Given the description of an element on the screen output the (x, y) to click on. 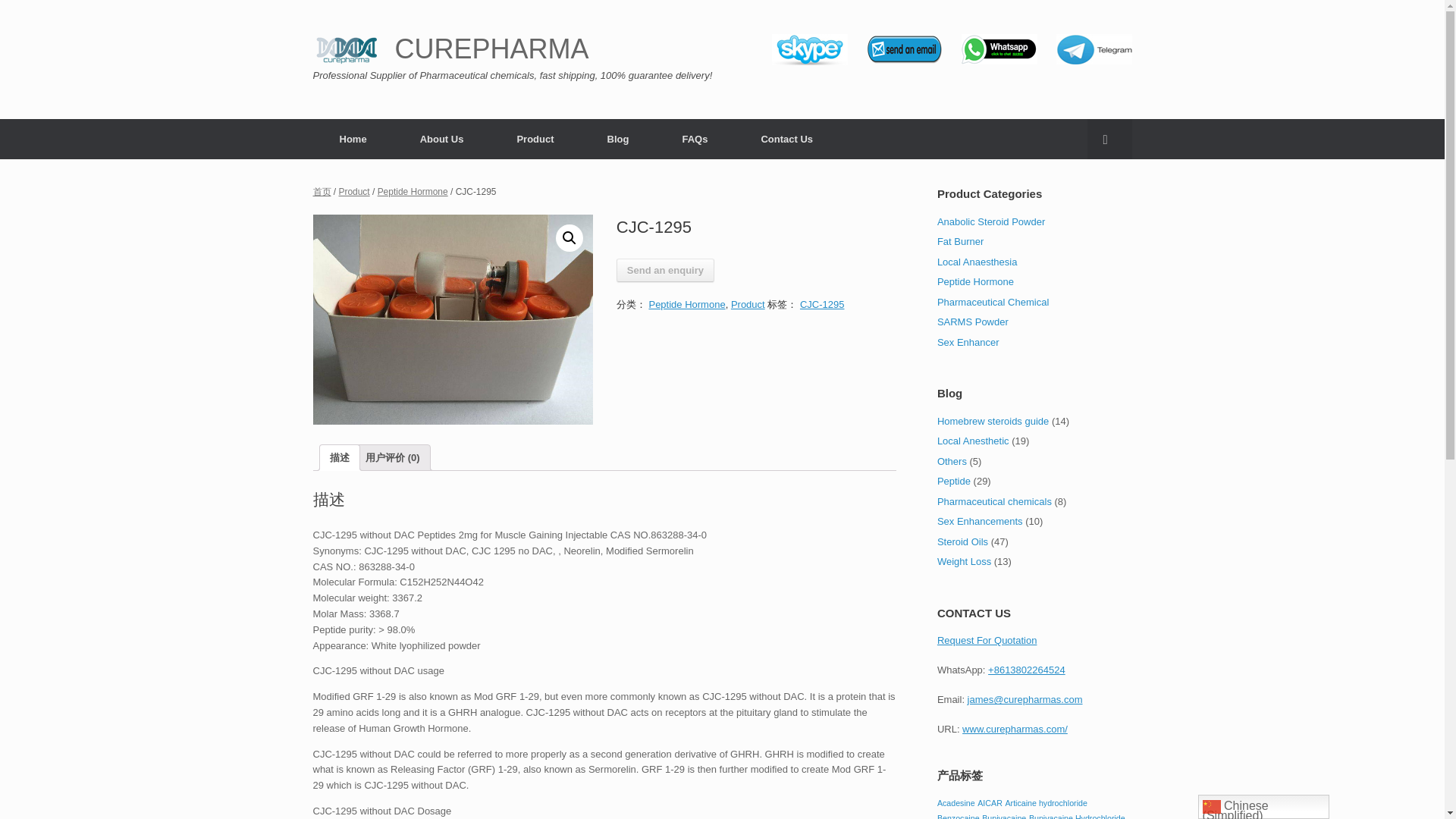
CUREPHARMA (450, 49)
Send an enquiry (664, 269)
About Us (441, 138)
Product (534, 138)
Homebrew steroids guide (992, 420)
CUREPHARMA (450, 49)
Home (353, 138)
CJC-1295 peptide hormone 5mg 10mg 2mg (452, 319)
